Given the description of an element on the screen output the (x, y) to click on. 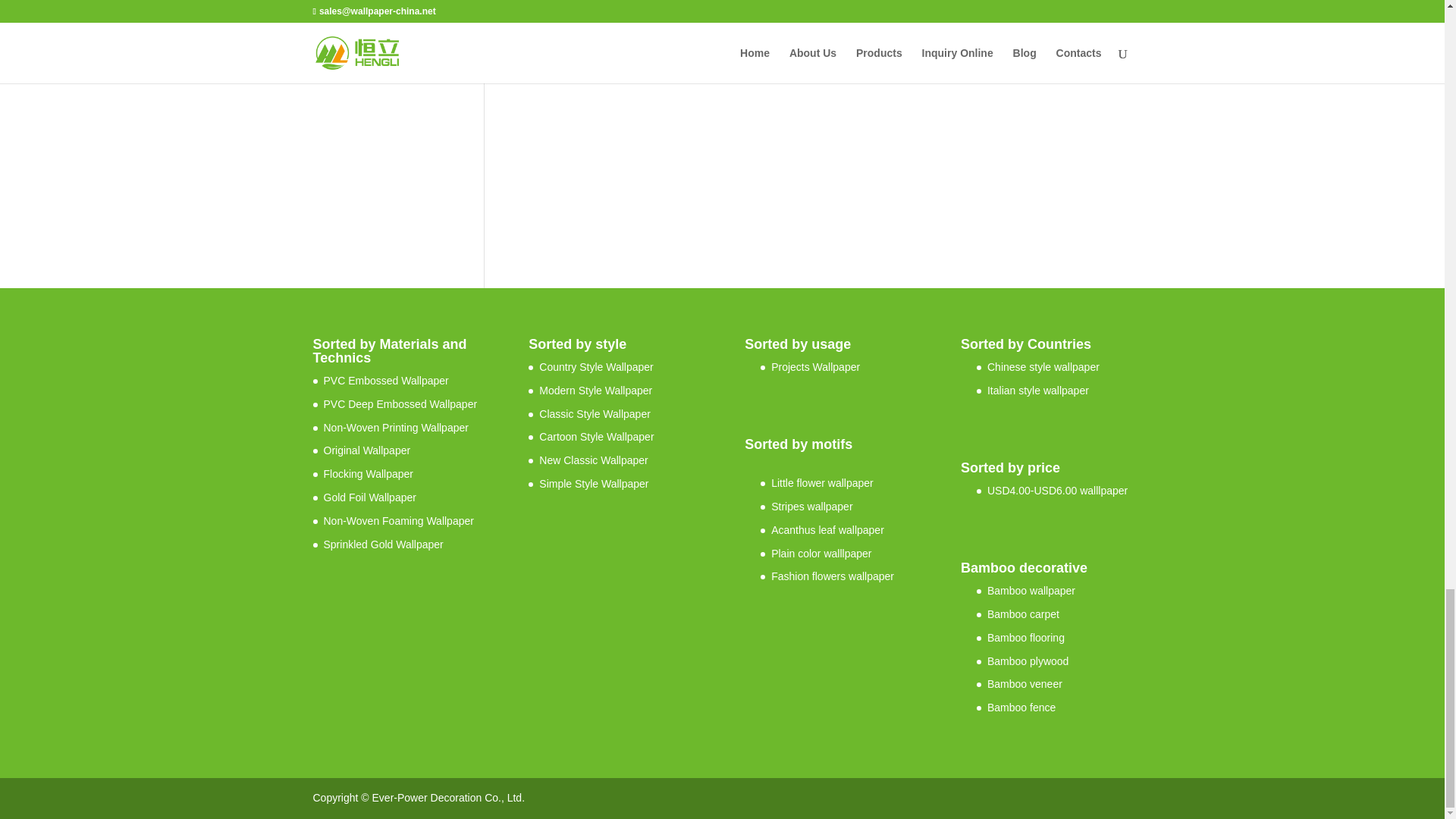
Cotton Cellulose HPMC Polymer HPMC for Cement (641, 35)
Cotton Cellulose HPMC Polymer HPMC for Cement (641, 142)
